Given the description of an element on the screen output the (x, y) to click on. 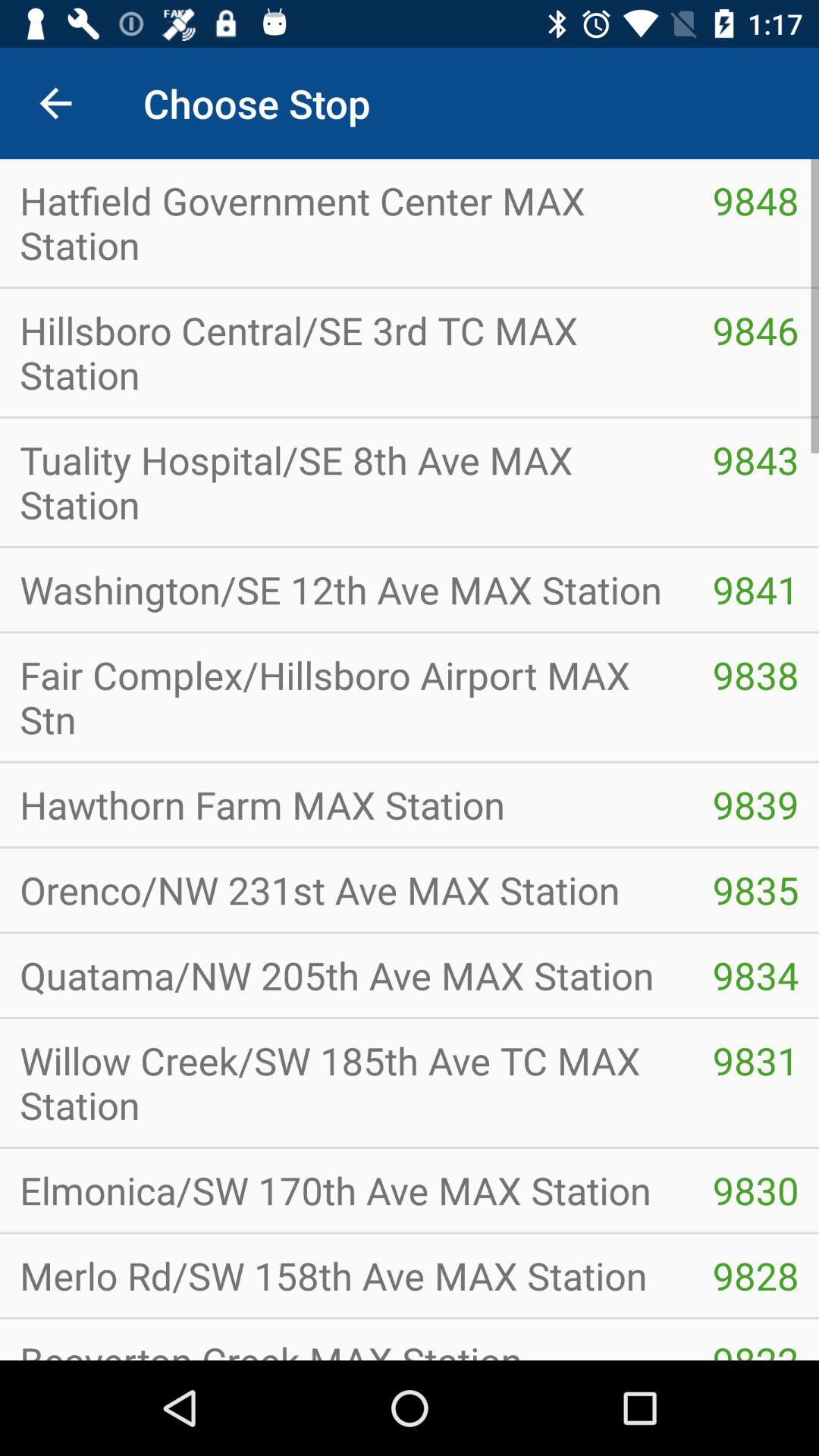
swipe until the fair complex hillsboro icon (346, 696)
